Given the description of an element on the screen output the (x, y) to click on. 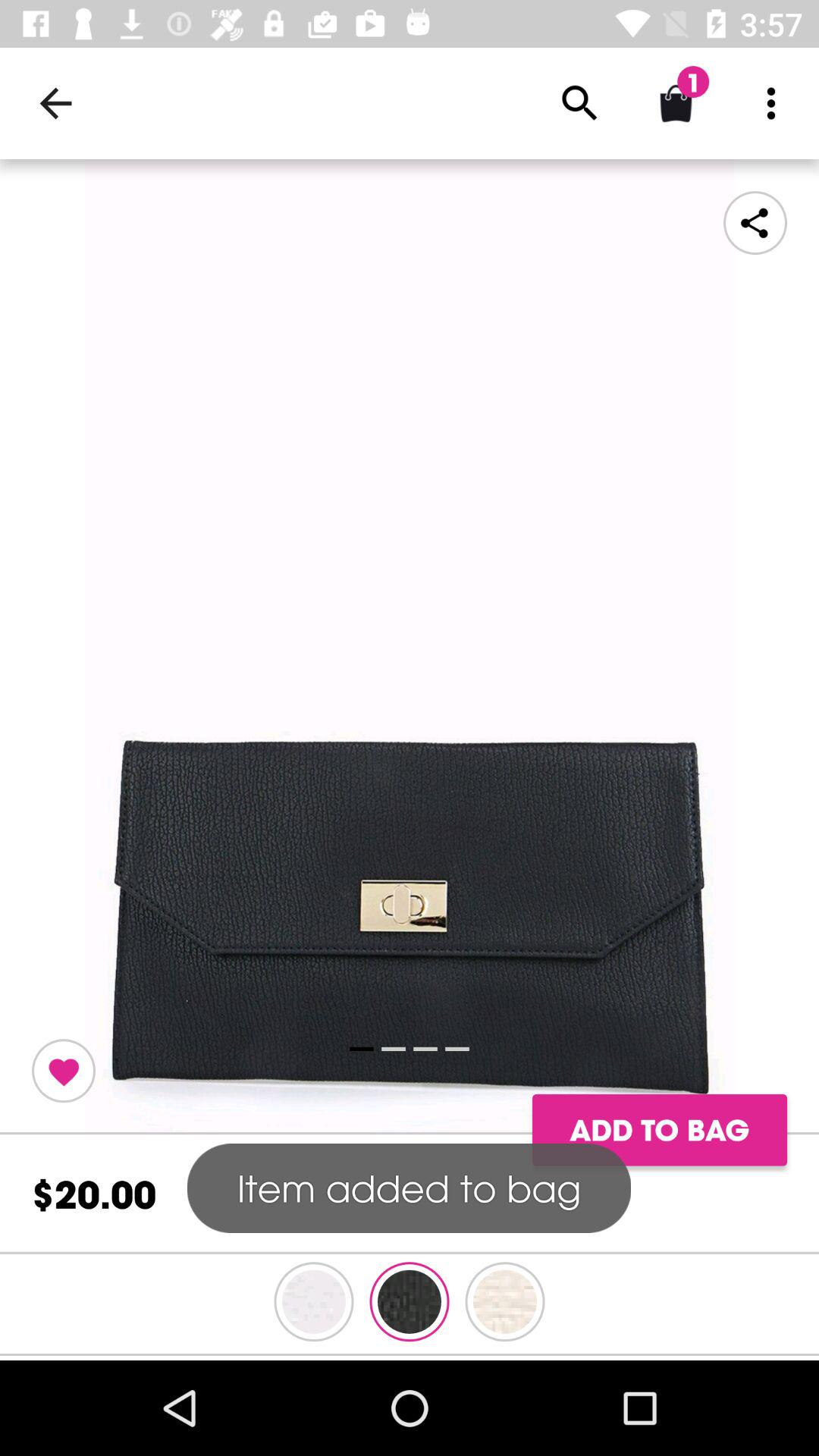
favorite the item (63, 1070)
